Given the description of an element on the screen output the (x, y) to click on. 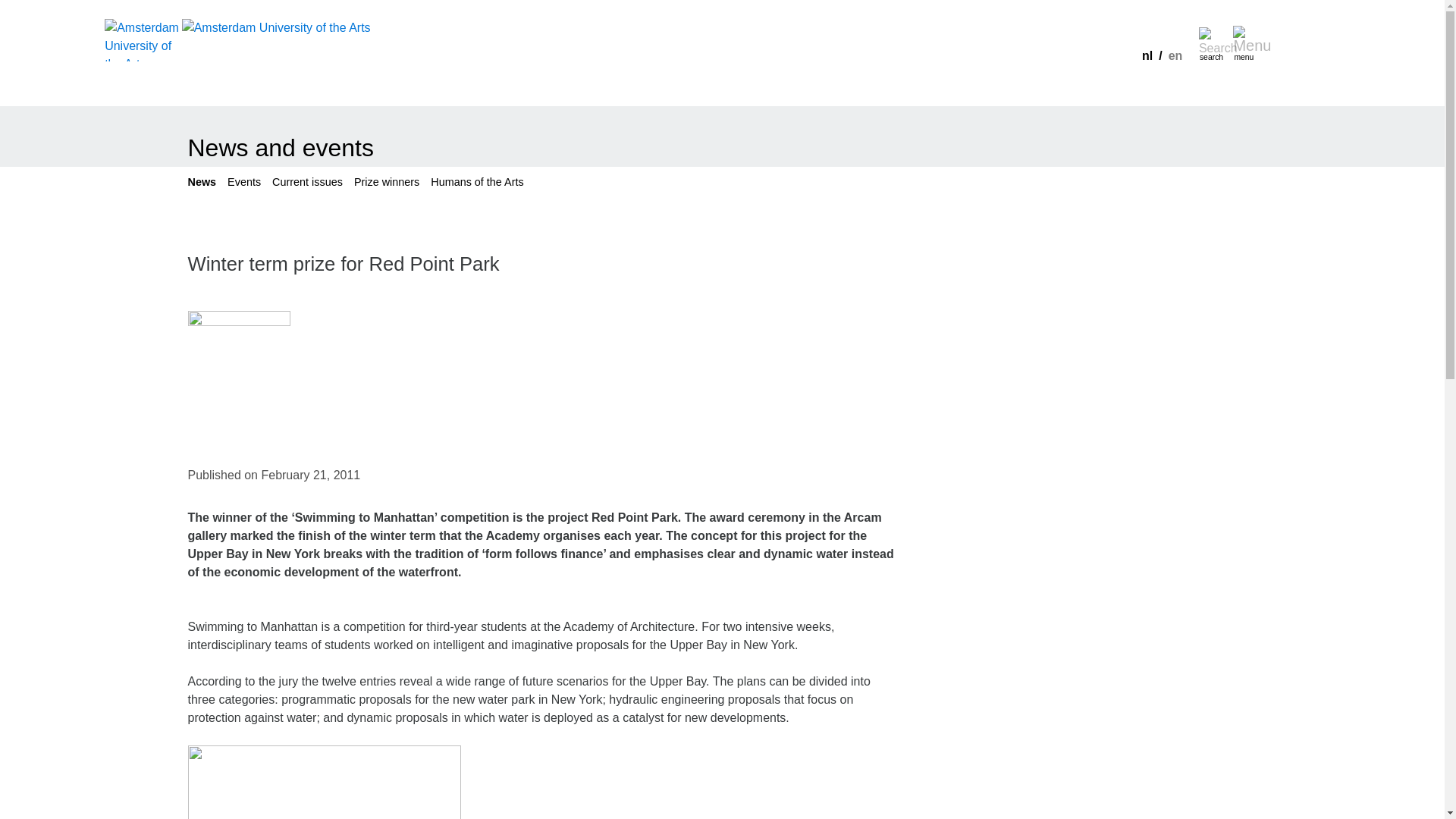
Menu (1245, 37)
Search (1211, 37)
News and events (280, 147)
Amsterdam University of the Arts (142, 27)
